Given the description of an element on the screen output the (x, y) to click on. 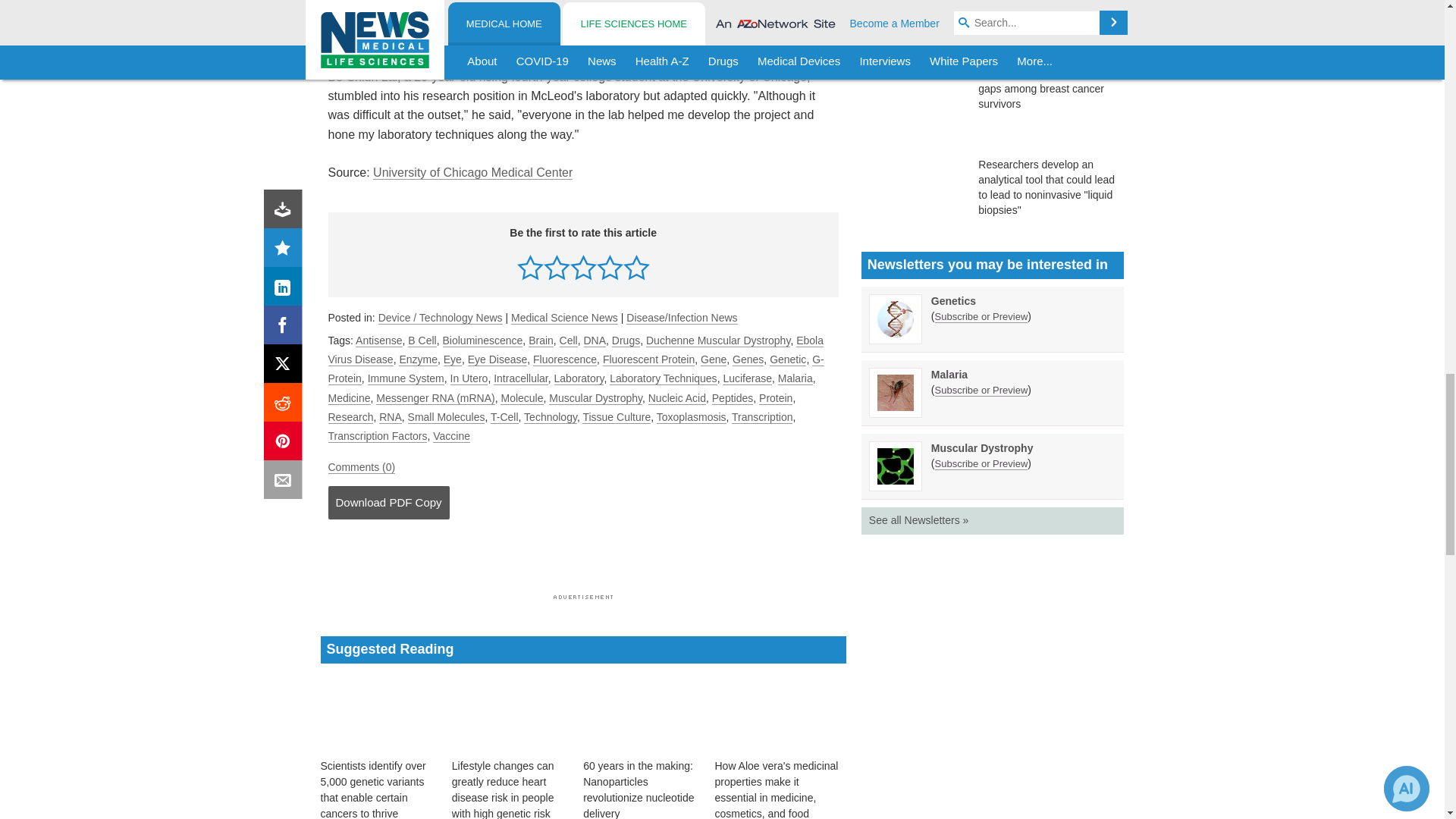
Rate this 5 stars out of 5 (636, 266)
Rate this 4 stars out of 5 (609, 266)
